Given the description of an element on the screen output the (x, y) to click on. 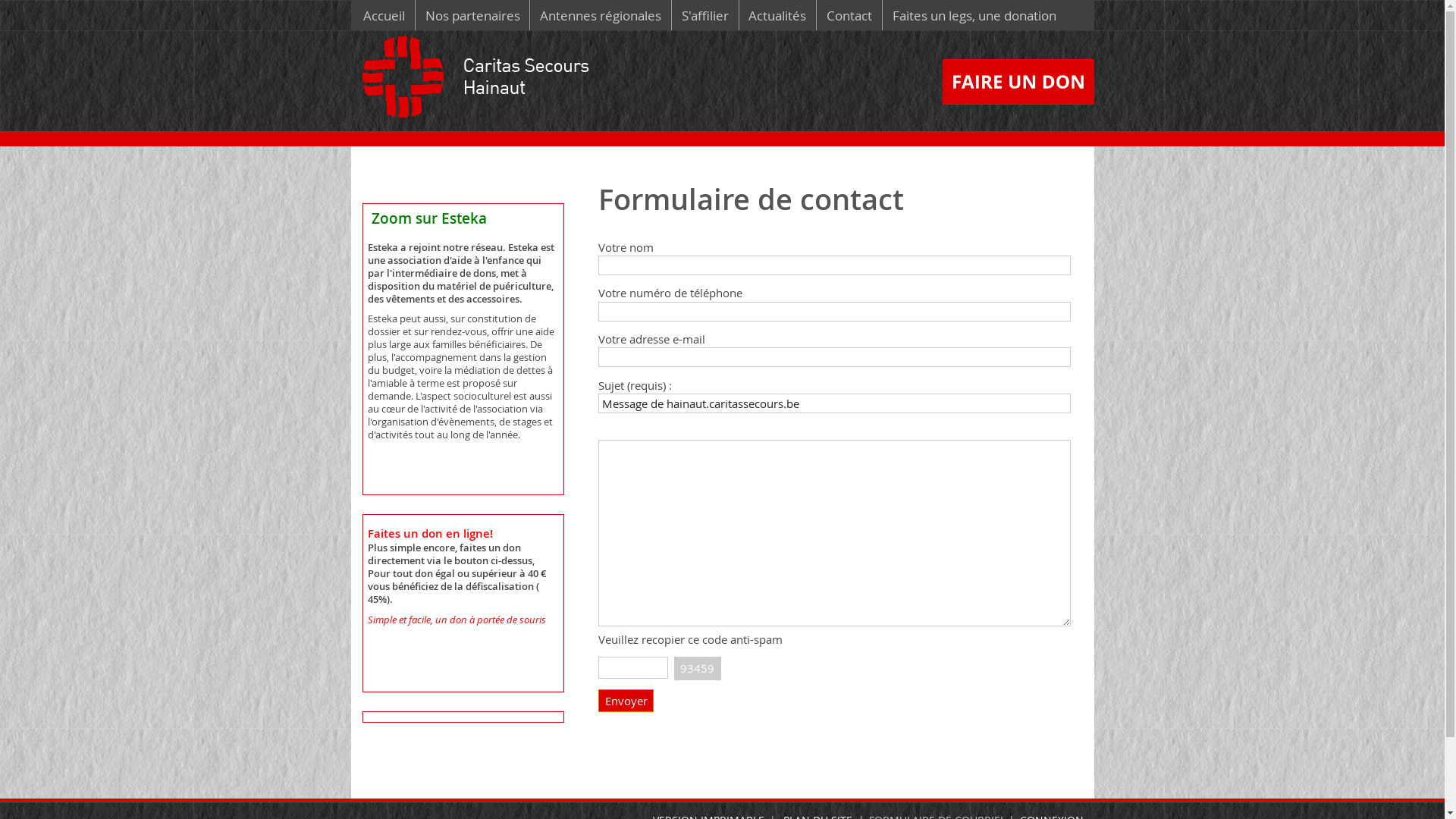
Faites un legs, une donation Element type: text (974, 15)
faire un don Element type: hover (1021, 82)
S'affilier Element type: text (704, 15)
  Element type: text (479, 83)
  Element type: text (1098, 111)
Accueil Element type: text (383, 15)
Nos partenaires Element type: text (472, 15)
Envoyer Element type: text (625, 700)
Message Element type: hover (834, 532)
Contact Element type: text (848, 15)
